Given the description of an element on the screen output the (x, y) to click on. 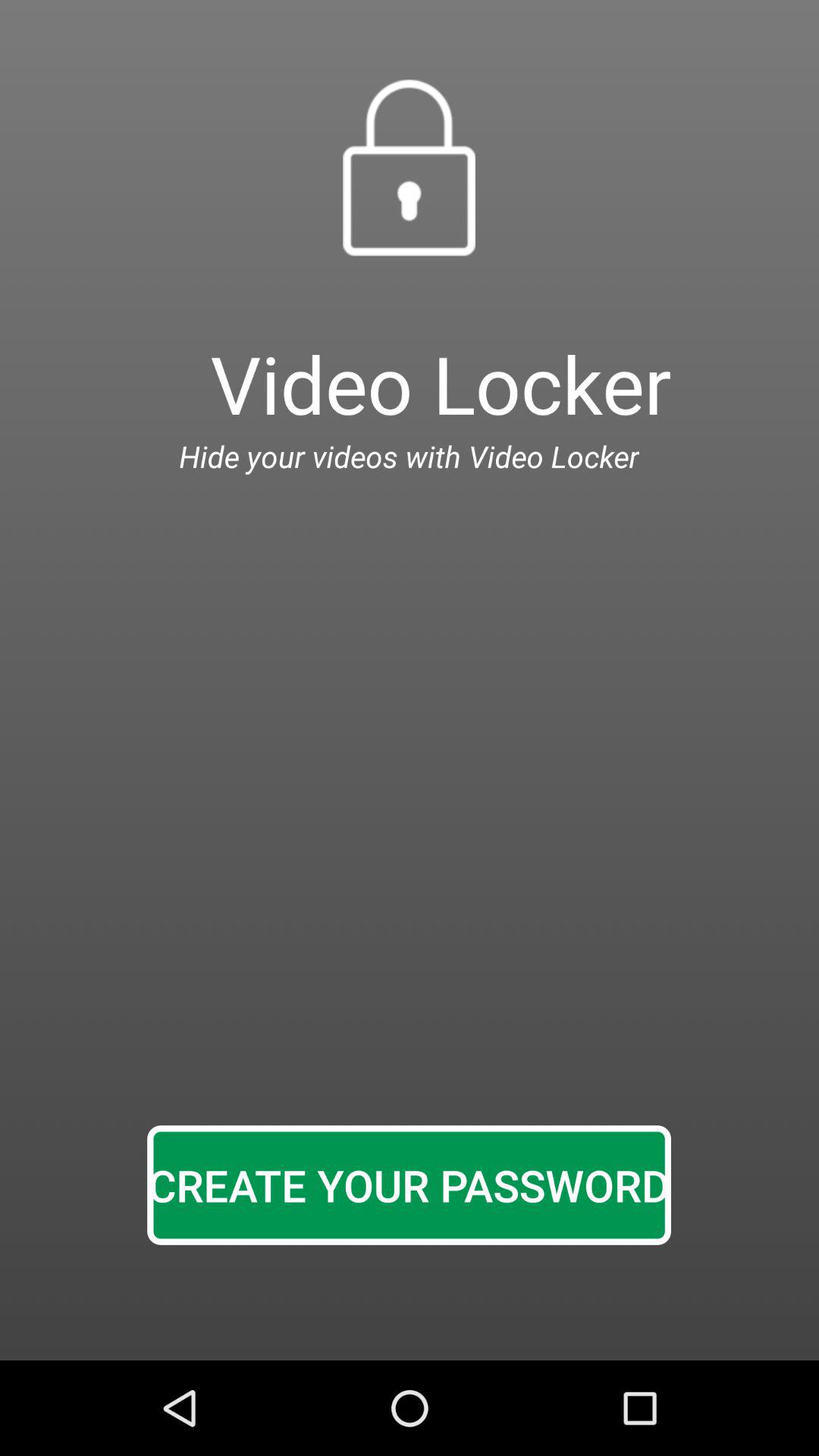
select create your password icon (409, 1184)
